Given the description of an element on the screen output the (x, y) to click on. 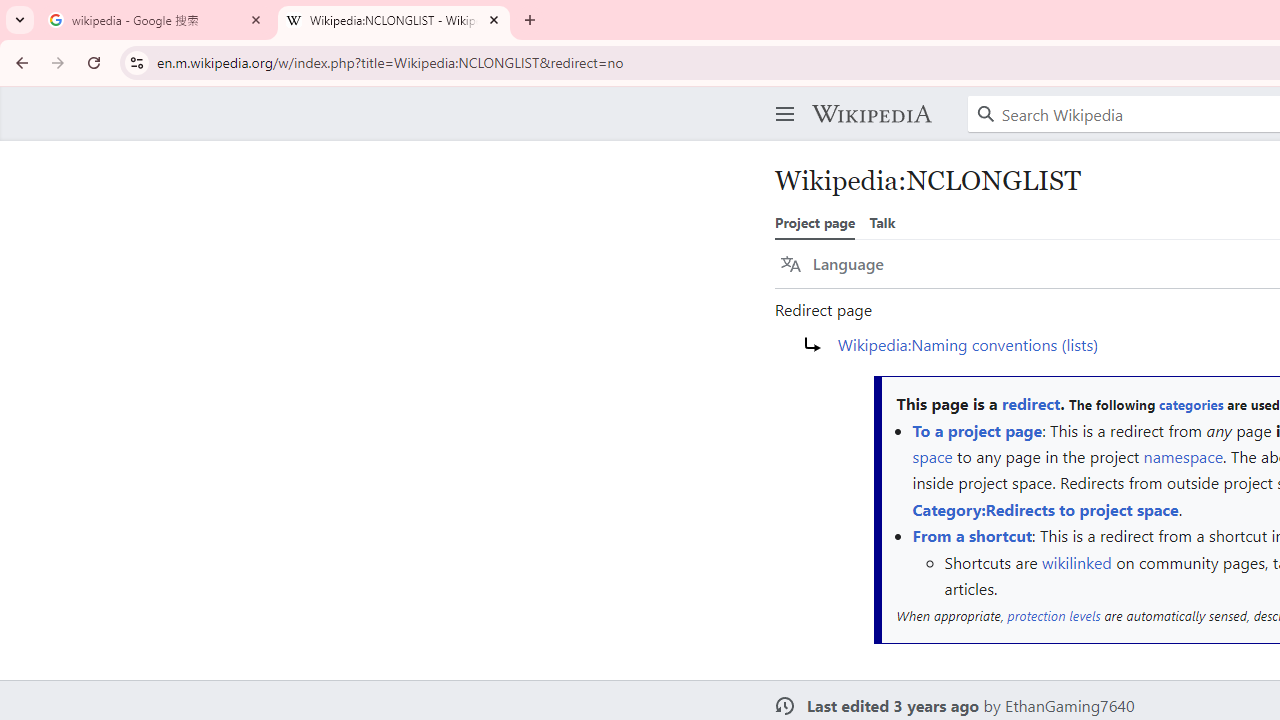
wikilinked (1076, 561)
Project page (815, 222)
Talk (882, 222)
Language (832, 264)
To a project page (977, 429)
namespace (1183, 455)
